Given the description of an element on the screen output the (x, y) to click on. 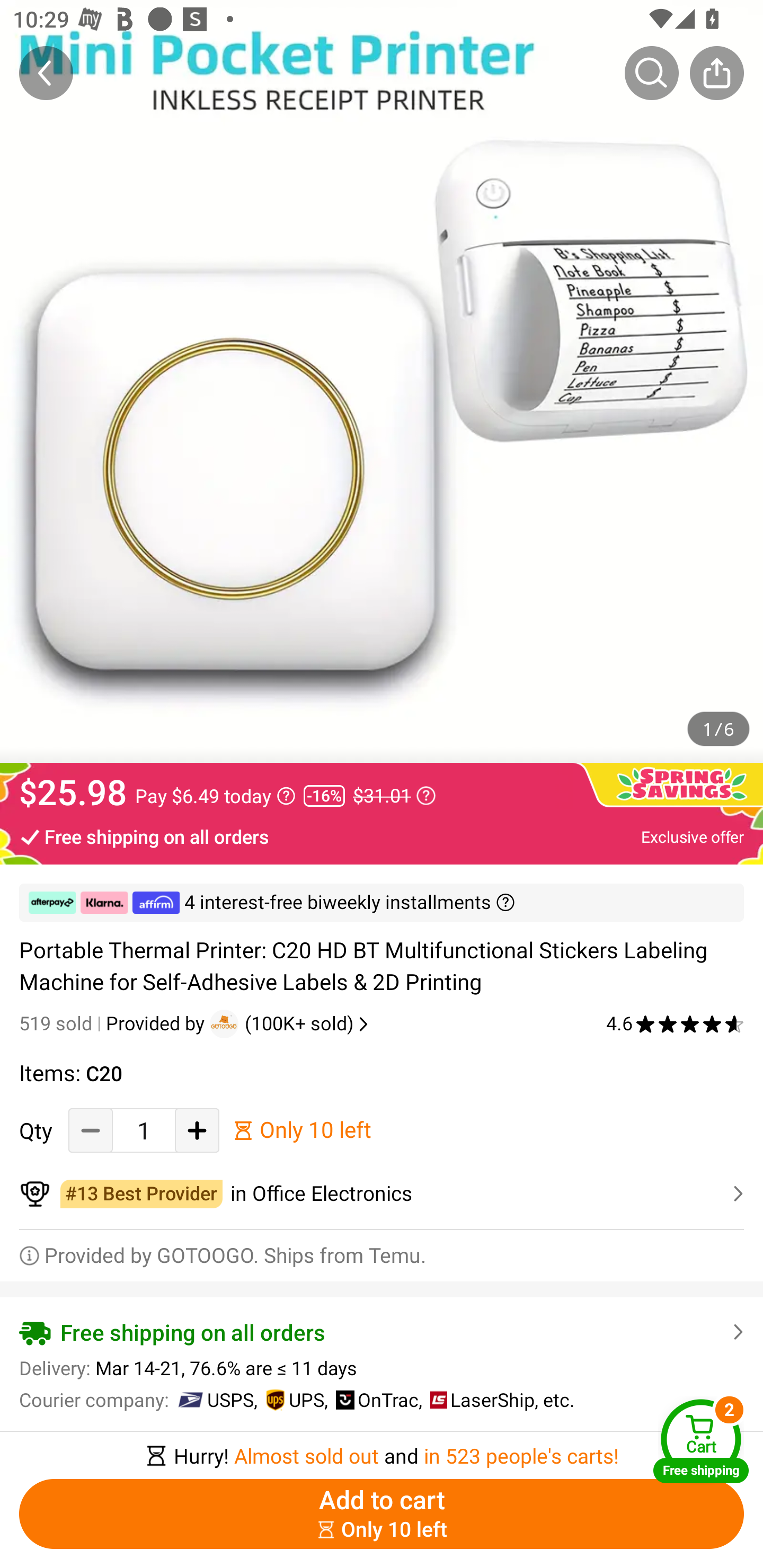
Back (46, 72)
Share (716, 72)
Pay $6.49 today   (215, 795)
Free shipping on all orders Exclusive offer (381, 836)
￼ ￼ ￼ 4 interest-free biweekly installments ￼ (381, 902)
519 sold Provided by  (114, 1023)
4.6 (674, 1023)
Decrease Quantity Button (90, 1130)
1 (143, 1130)
Add Quantity button (196, 1130)
￼￼in Office Electronics (381, 1193)
Cart Free shipping Cart (701, 1440)
Add to cart ￼￼Only 10 left (381, 1513)
